Given the description of an element on the screen output the (x, y) to click on. 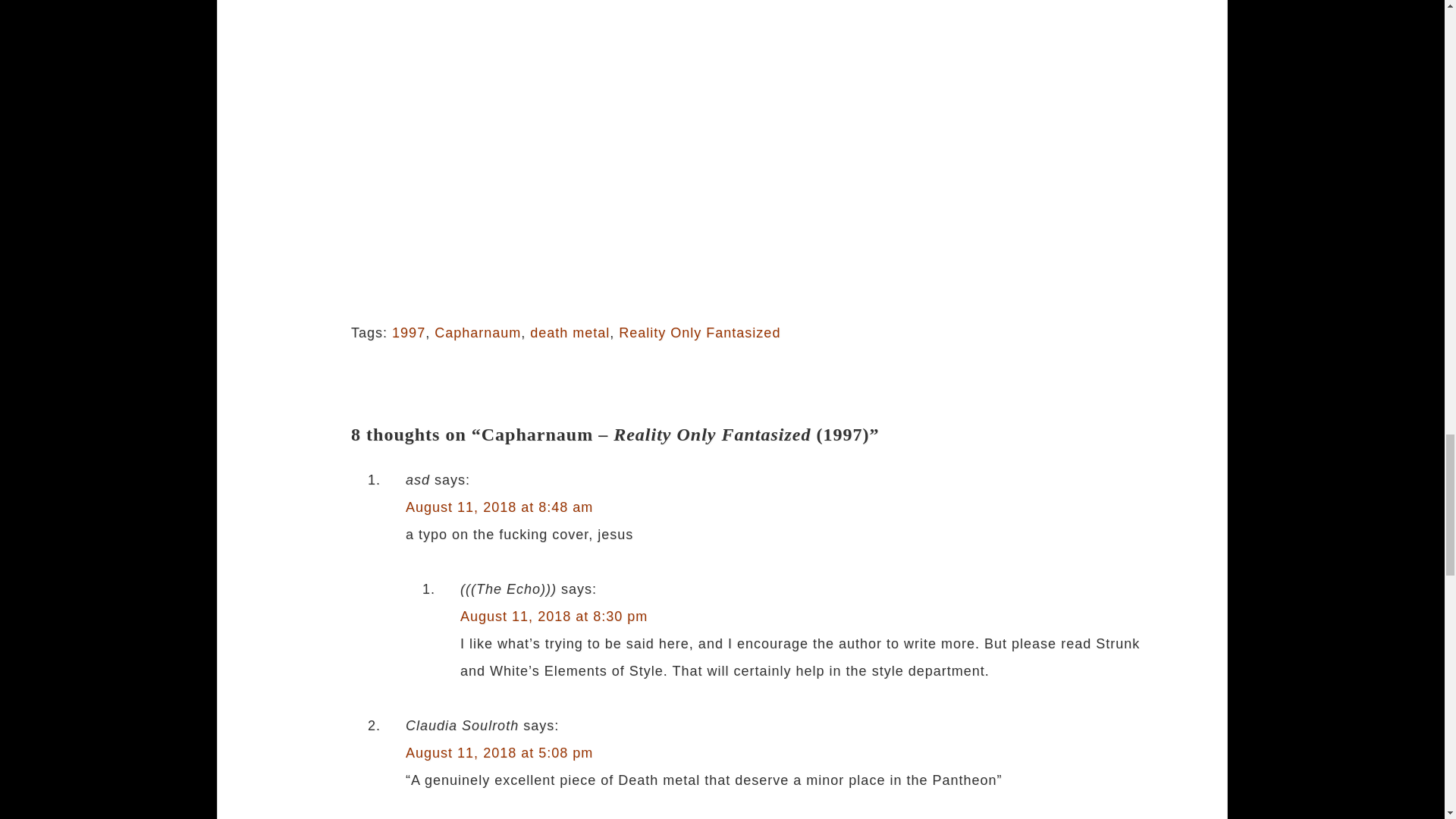
1997 (408, 332)
August 11, 2018 at 8:30 pm (553, 616)
August 11, 2018 at 5:08 pm (499, 752)
August 11, 2018 at 8:48 am (499, 507)
Capharnaum (477, 332)
death metal (569, 332)
Reality Only Fantasized (699, 332)
